Given the description of an element on the screen output the (x, y) to click on. 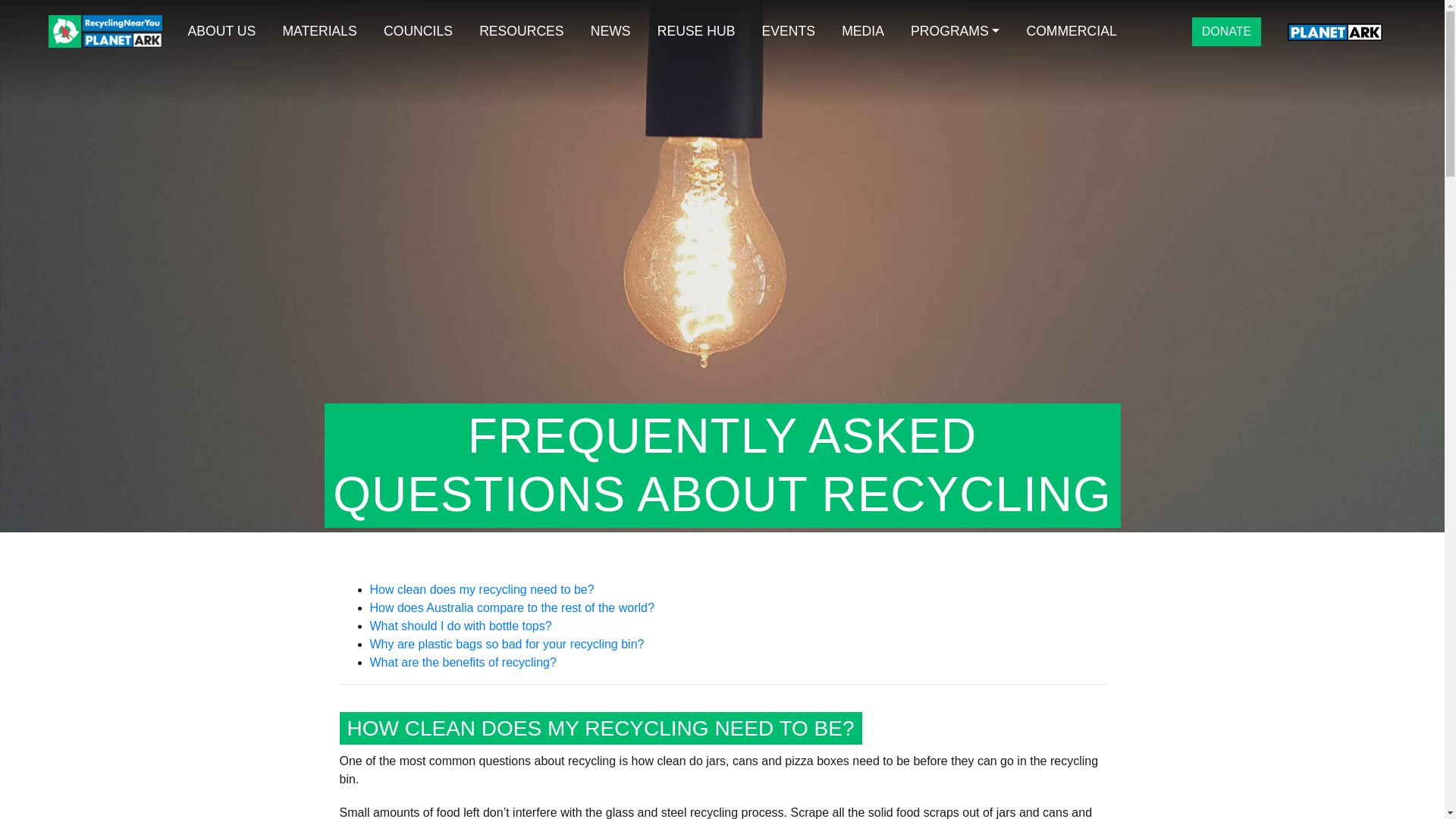
EVENTS (788, 31)
RESOURCES (521, 31)
Why are plastic bags so bad for your recycling bin? (507, 644)
NEWS (609, 31)
ABOUT US (221, 31)
What are the benefits of recycling? (462, 662)
What should I do with bottle tops? (460, 625)
DONATE (1226, 31)
PROGRAMS (955, 31)
REUSE HUB (695, 31)
MATERIALS (320, 31)
How clean does my recycling need to be? (481, 589)
COMMERCIAL (1071, 31)
What should I do with bottle tops? (460, 625)
How clean does my recycling need to be? (481, 589)
